Given the description of an element on the screen output the (x, y) to click on. 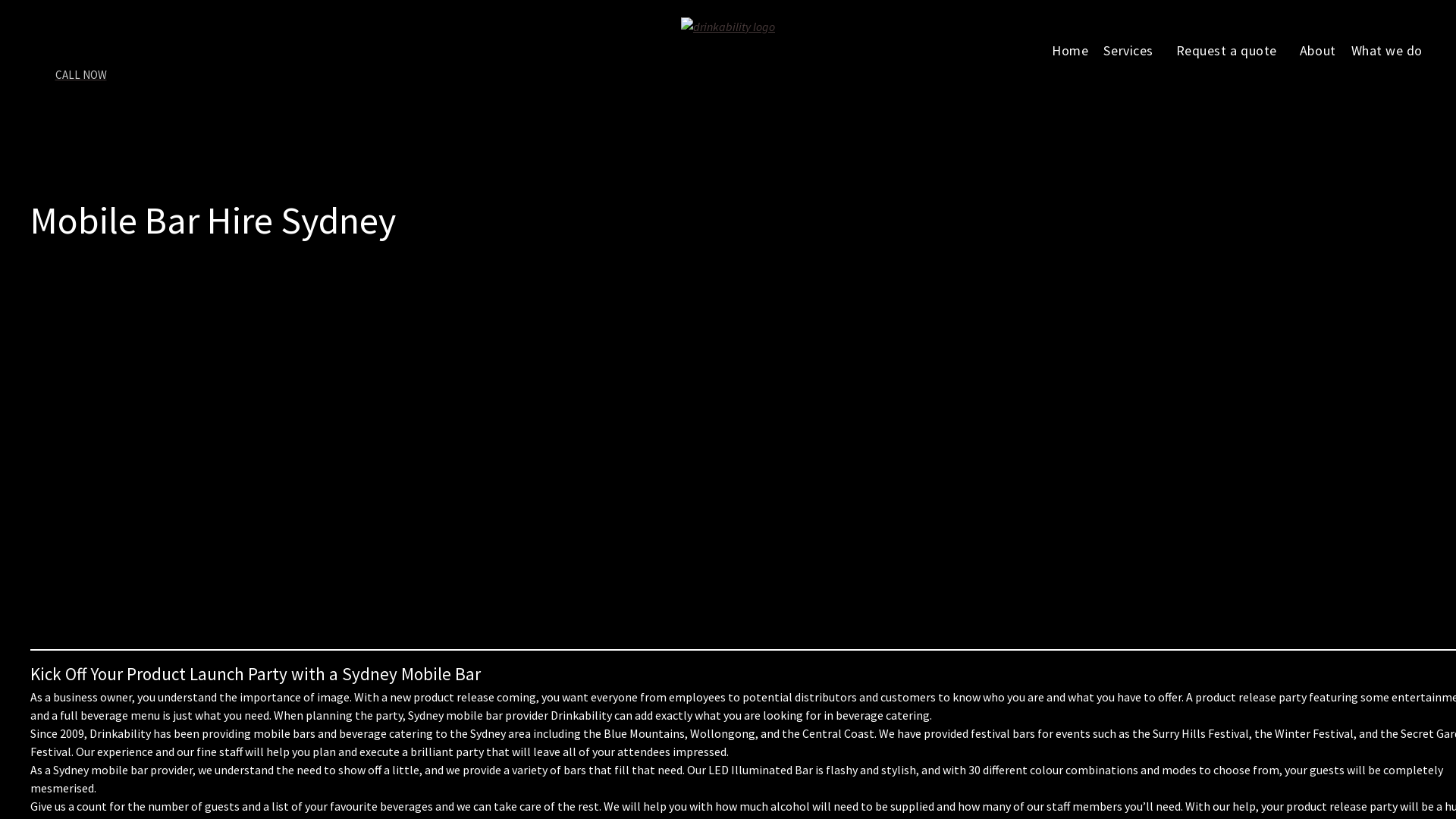
Request a quote Element type: text (1230, 49)
CALL NOW Element type: text (87, 82)
What we do Element type: text (1390, 49)
Services Element type: text (1131, 49)
About Element type: text (1317, 49)
Home Element type: text (1069, 49)
